Given the description of an element on the screen output the (x, y) to click on. 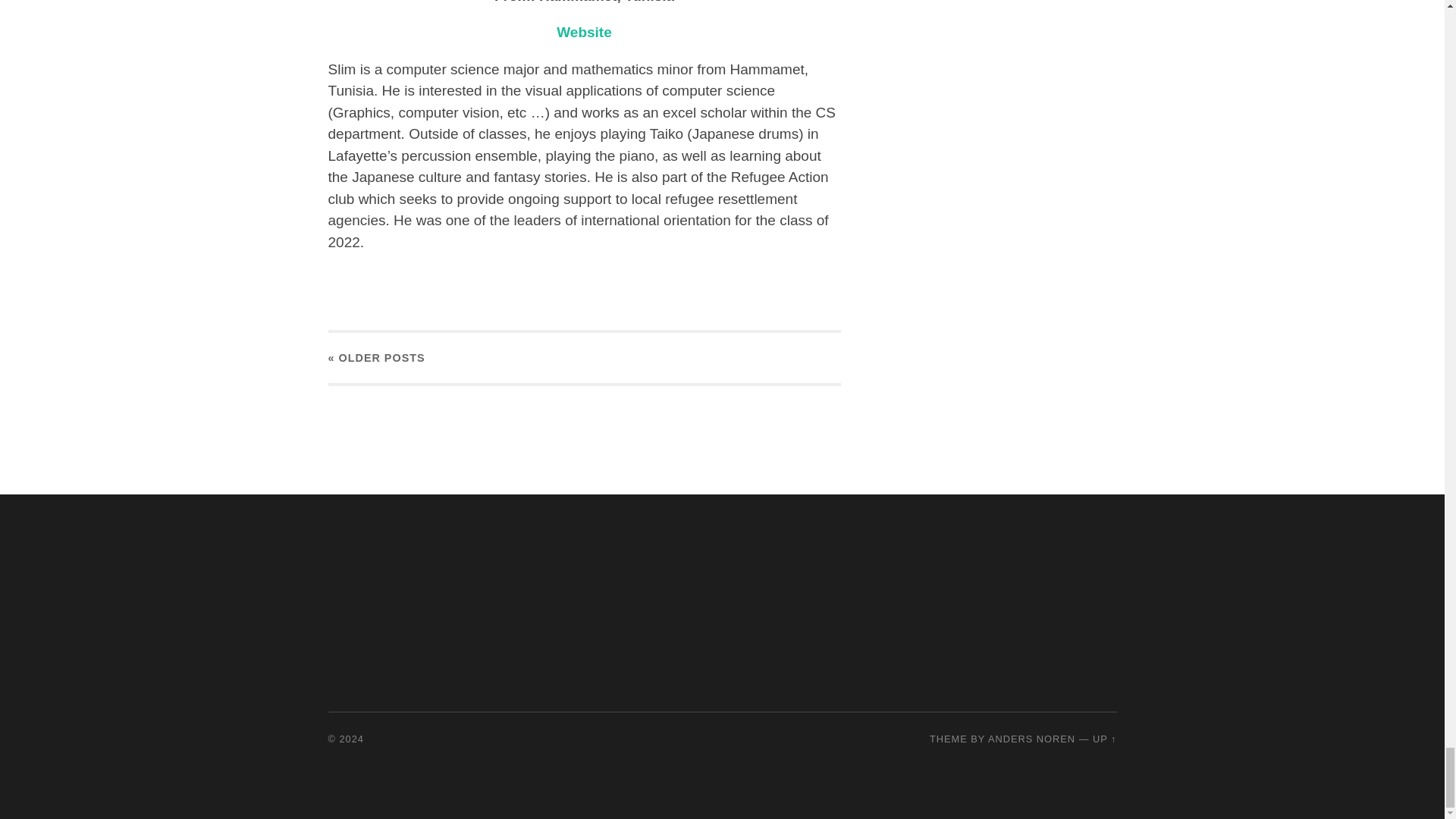
To the top (1104, 738)
